Given the description of an element on the screen output the (x, y) to click on. 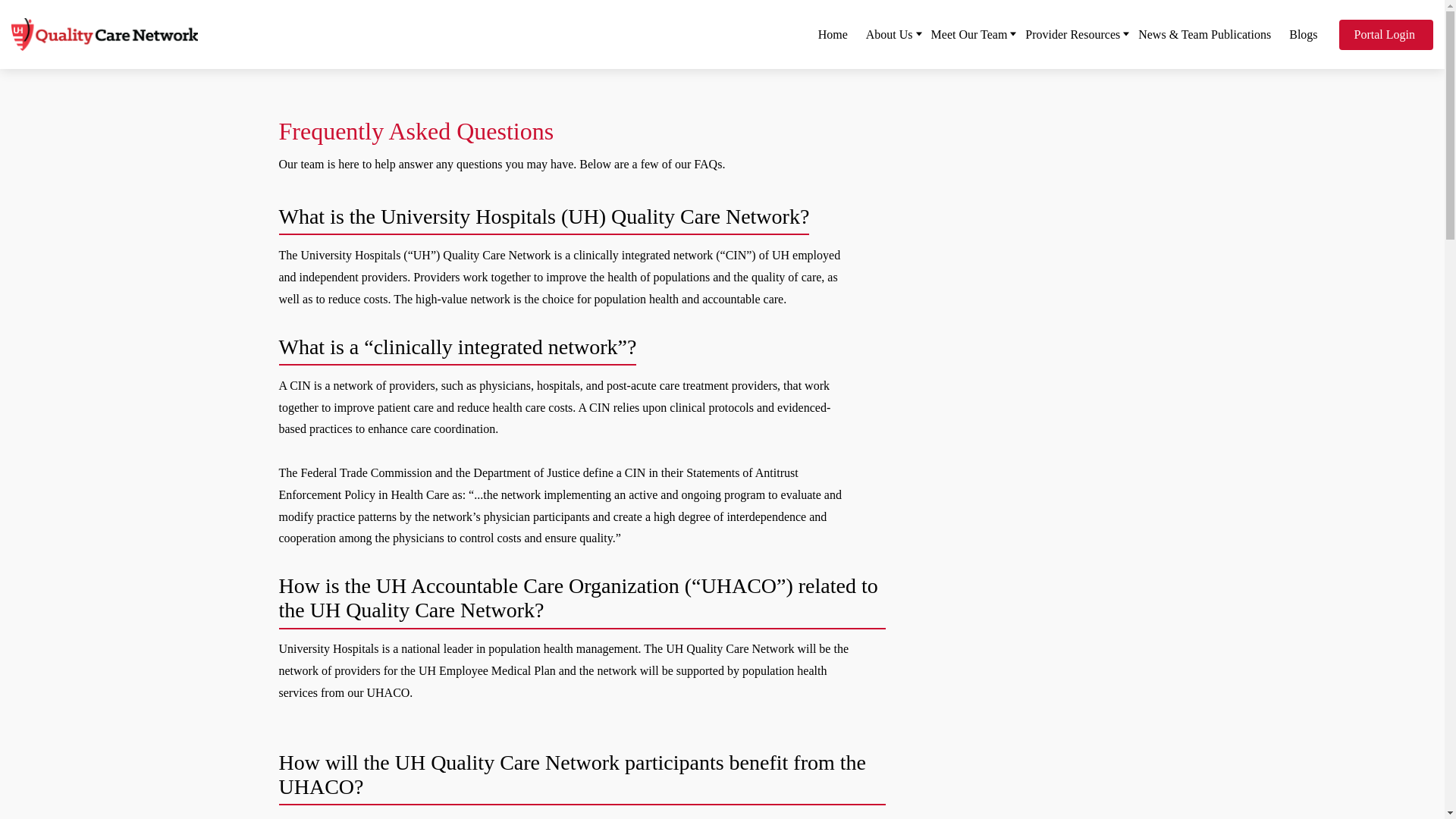
Home (832, 33)
Portal Login  (1385, 34)
Blogs (1302, 33)
Meet Our Team (969, 33)
About Us (889, 33)
Provider Resources (1072, 33)
